Given the description of an element on the screen output the (x, y) to click on. 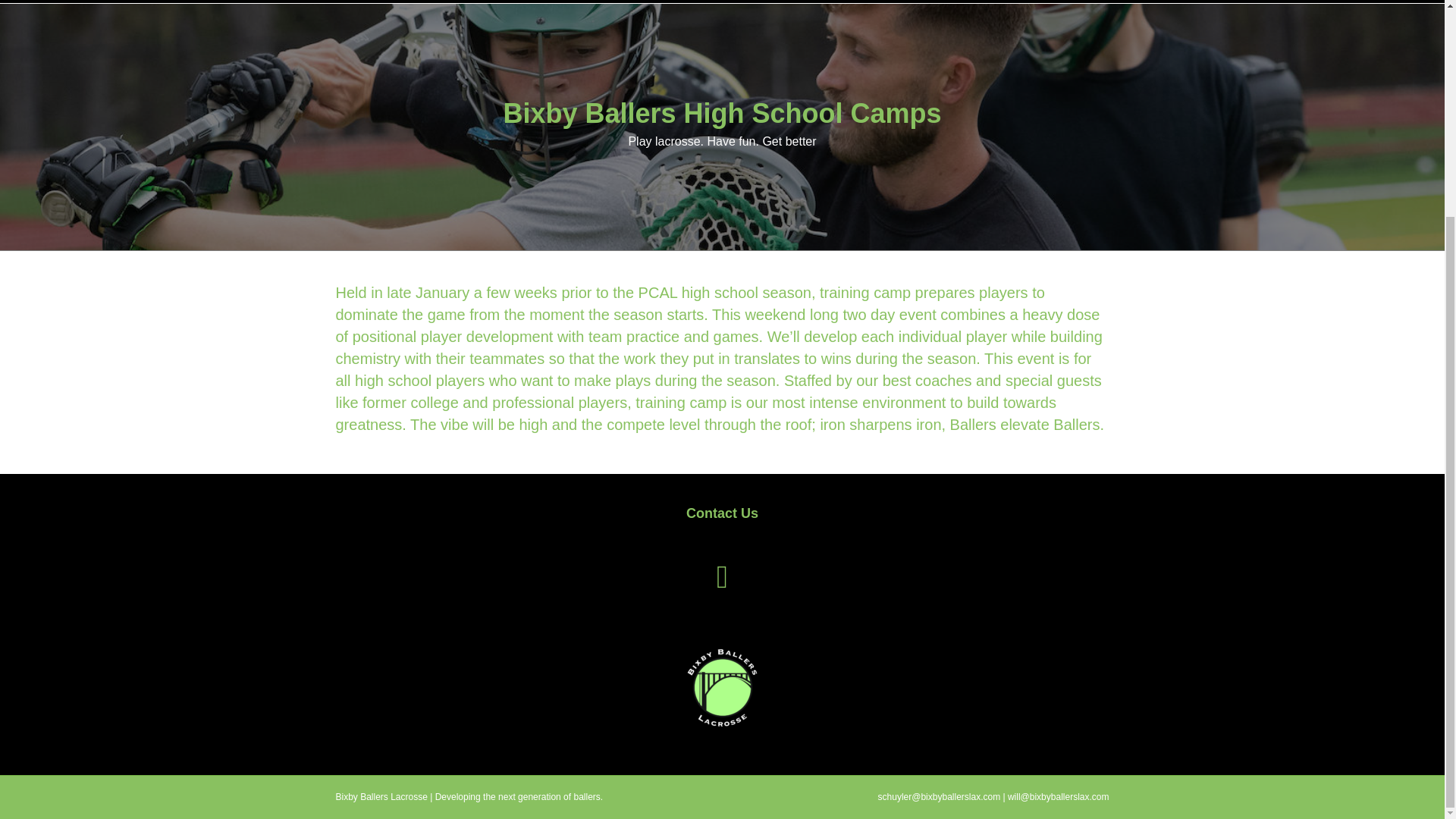
Contact Us (721, 513)
White Text (721, 687)
Contact Us (721, 513)
